Given the description of an element on the screen output the (x, y) to click on. 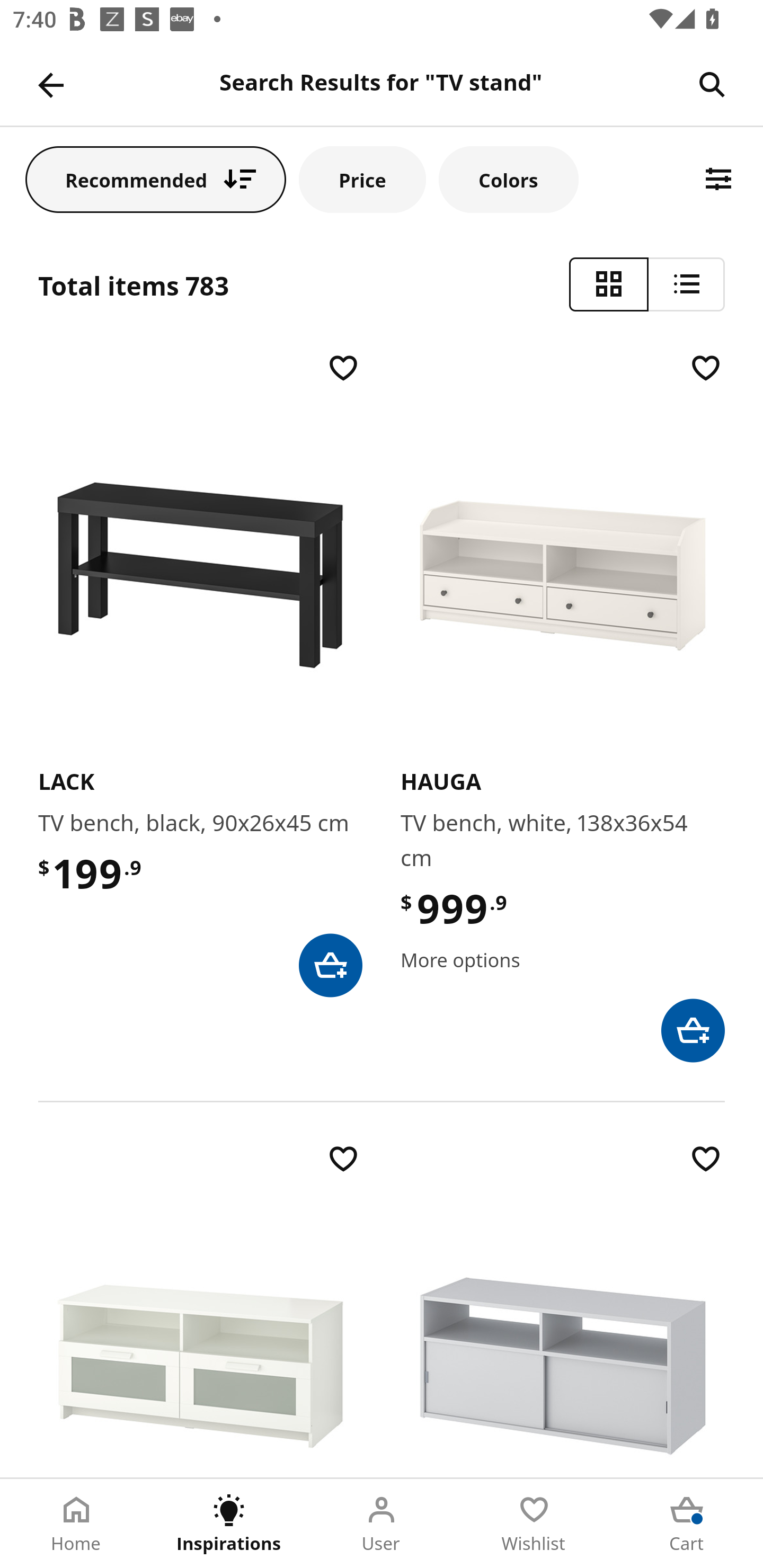
Recommended (155, 179)
Price (362, 179)
Colors (508, 179)
​L​A​C​K​
TV bench, black, 90x26x45 cm
$
199
.9 (200, 673)
Home
Tab 1 of 5 (76, 1522)
Inspirations
Tab 2 of 5 (228, 1522)
User
Tab 3 of 5 (381, 1522)
Wishlist
Tab 4 of 5 (533, 1522)
Cart
Tab 5 of 5 (686, 1522)
